Given the description of an element on the screen output the (x, y) to click on. 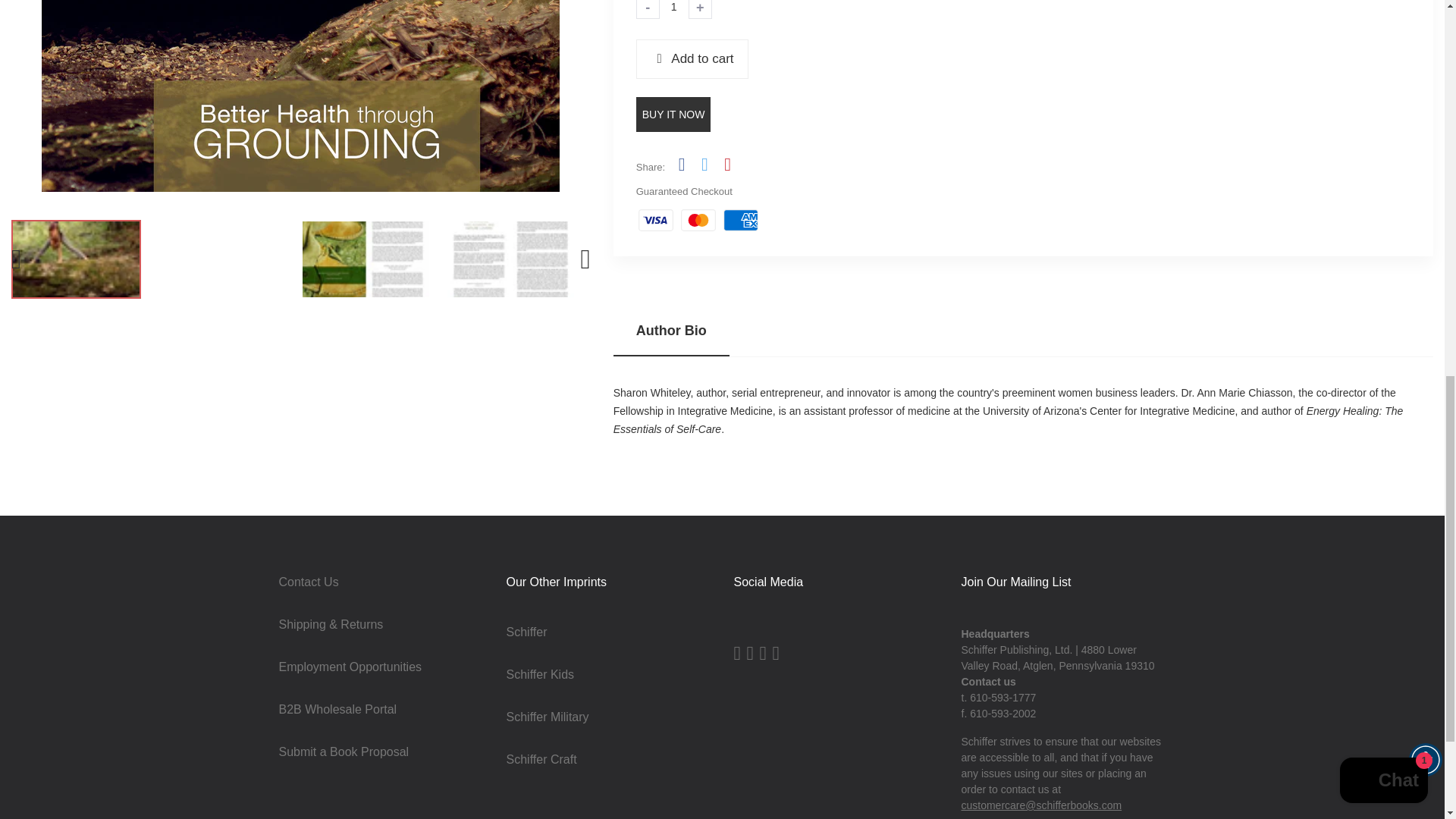
Follow us on Pinterest (726, 164)
Follow us on Facebook (681, 164)
1 (673, 9)
Follow us on Twitter (704, 164)
